Given the description of an element on the screen output the (x, y) to click on. 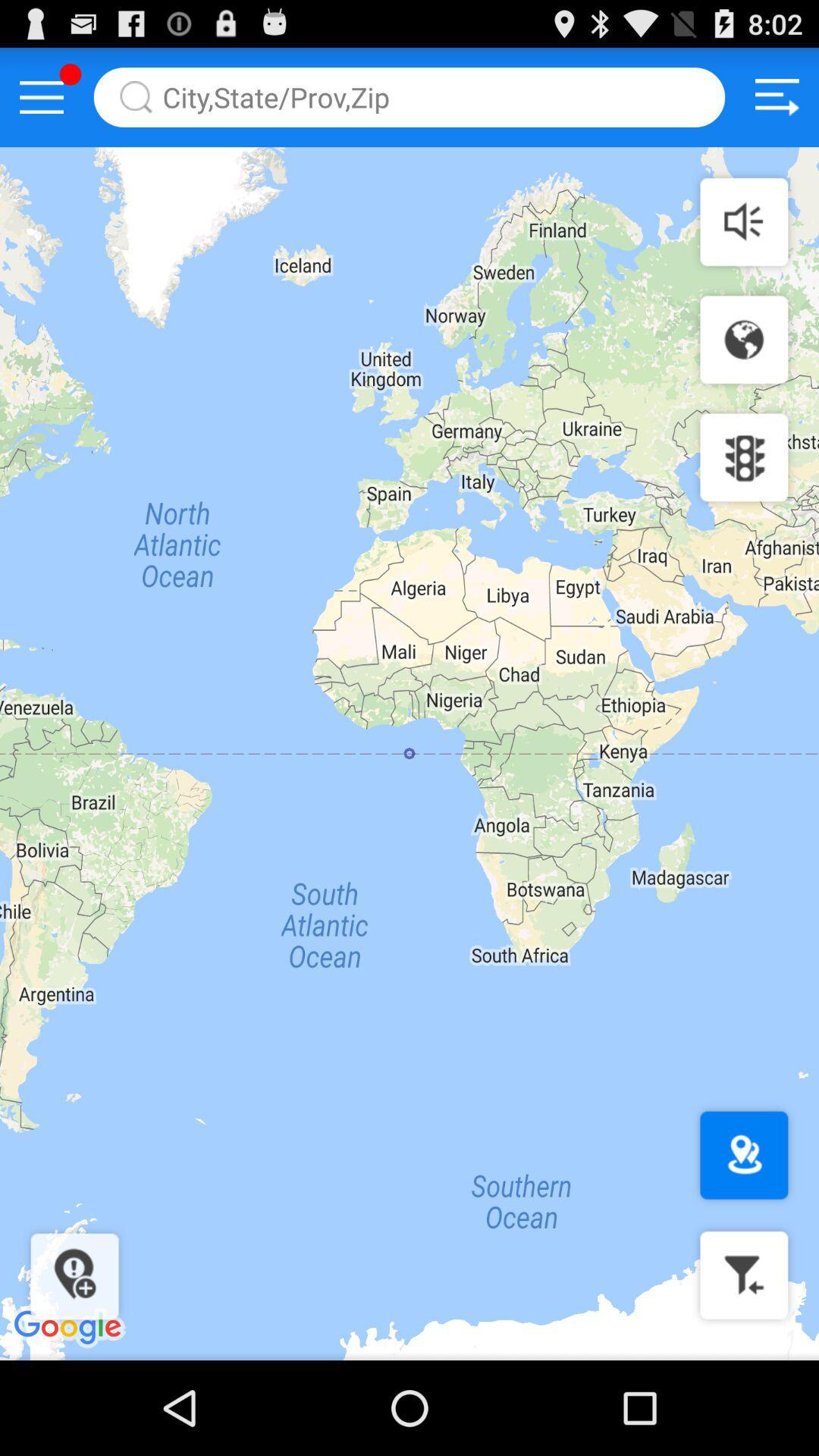
enable globe view (744, 339)
